Given the description of an element on the screen output the (x, y) to click on. 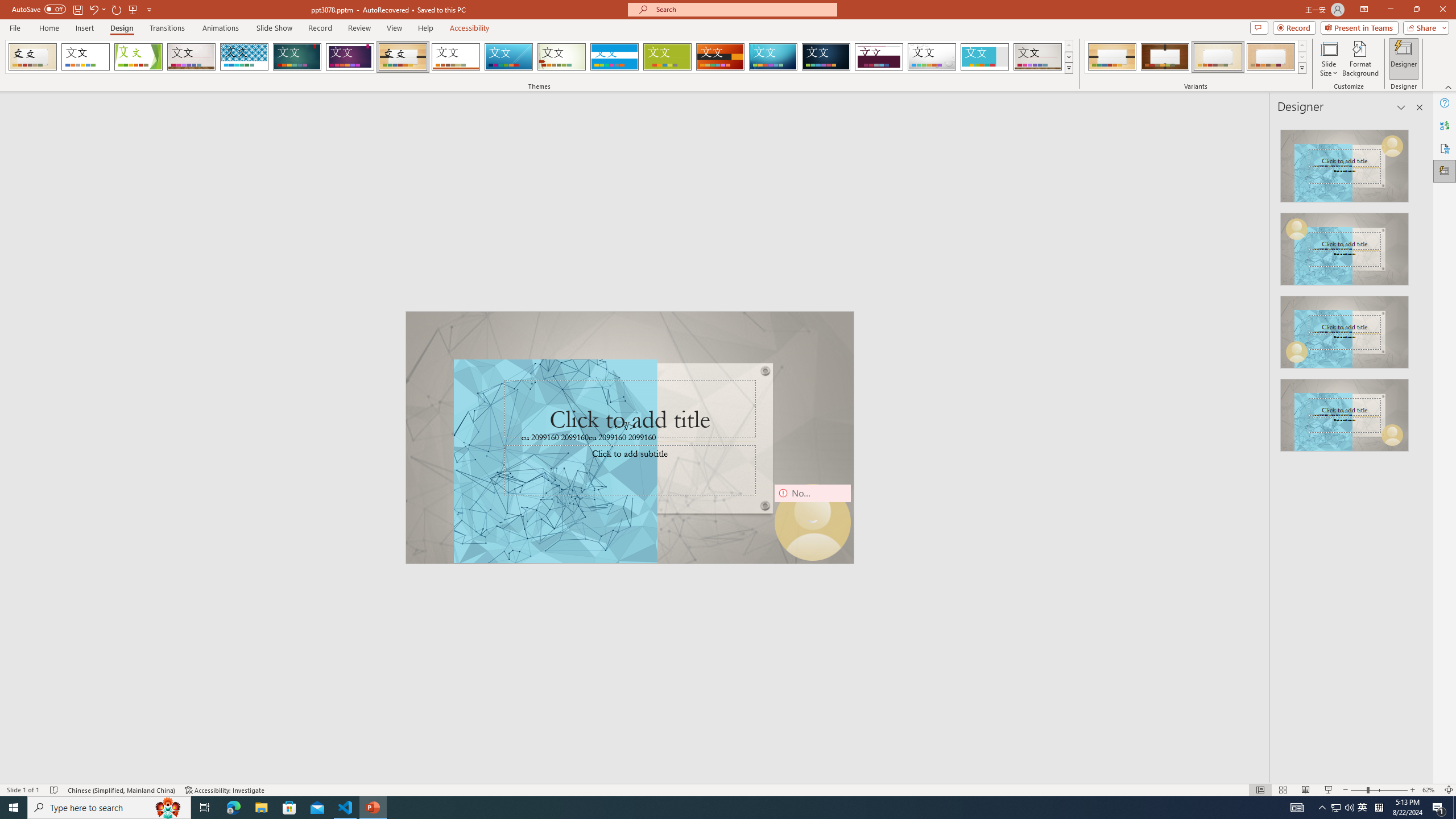
Integral (244, 56)
Droplet (931, 56)
Wisp (561, 56)
Gallery (1037, 56)
Organic Variant 4 (1270, 56)
Office Theme (85, 56)
Dividend (879, 56)
Berlin (720, 56)
